Given the description of an element on the screen output the (x, y) to click on. 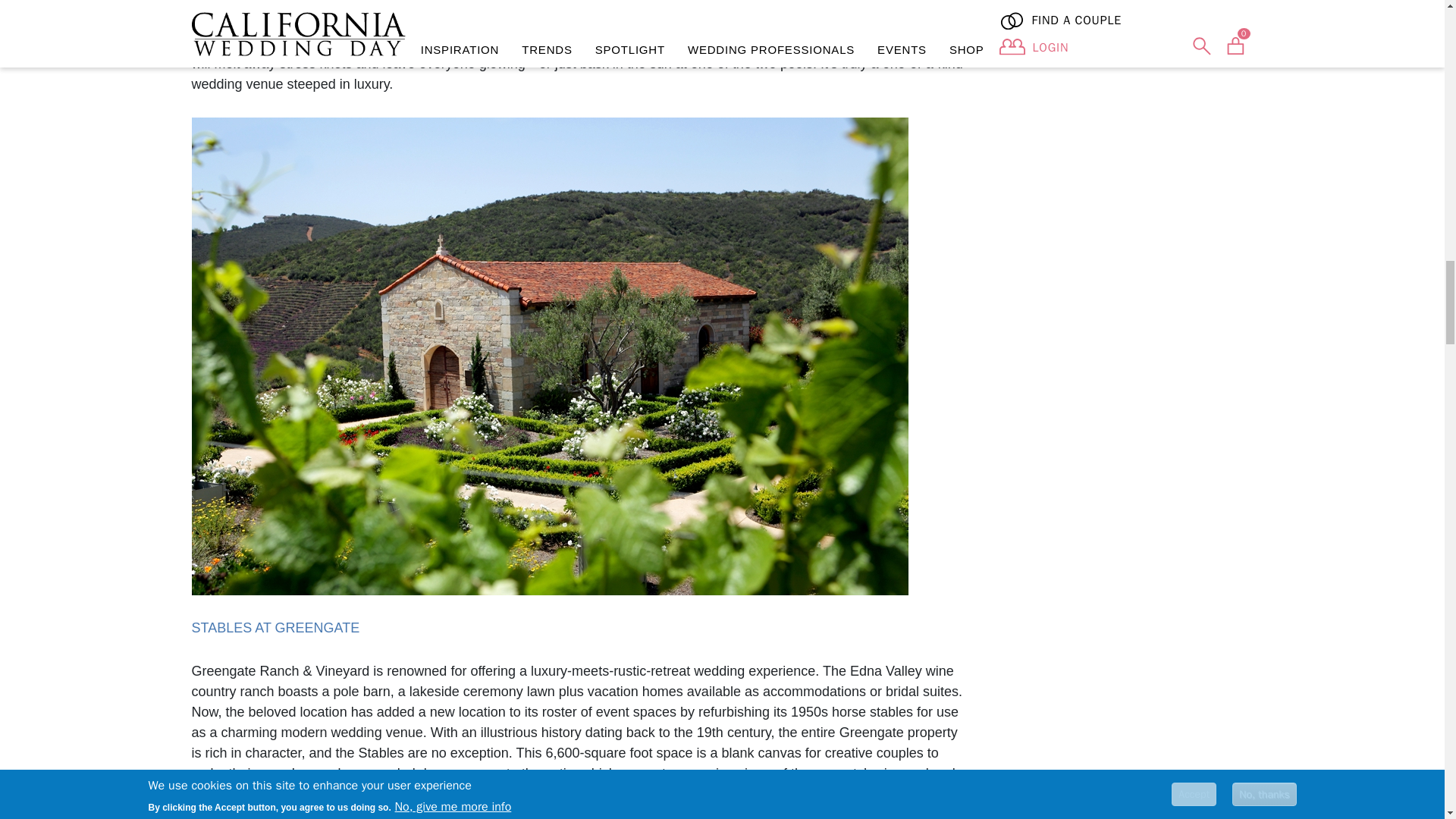
STABLES AT GREENGATE (274, 627)
